Given the description of an element on the screen output the (x, y) to click on. 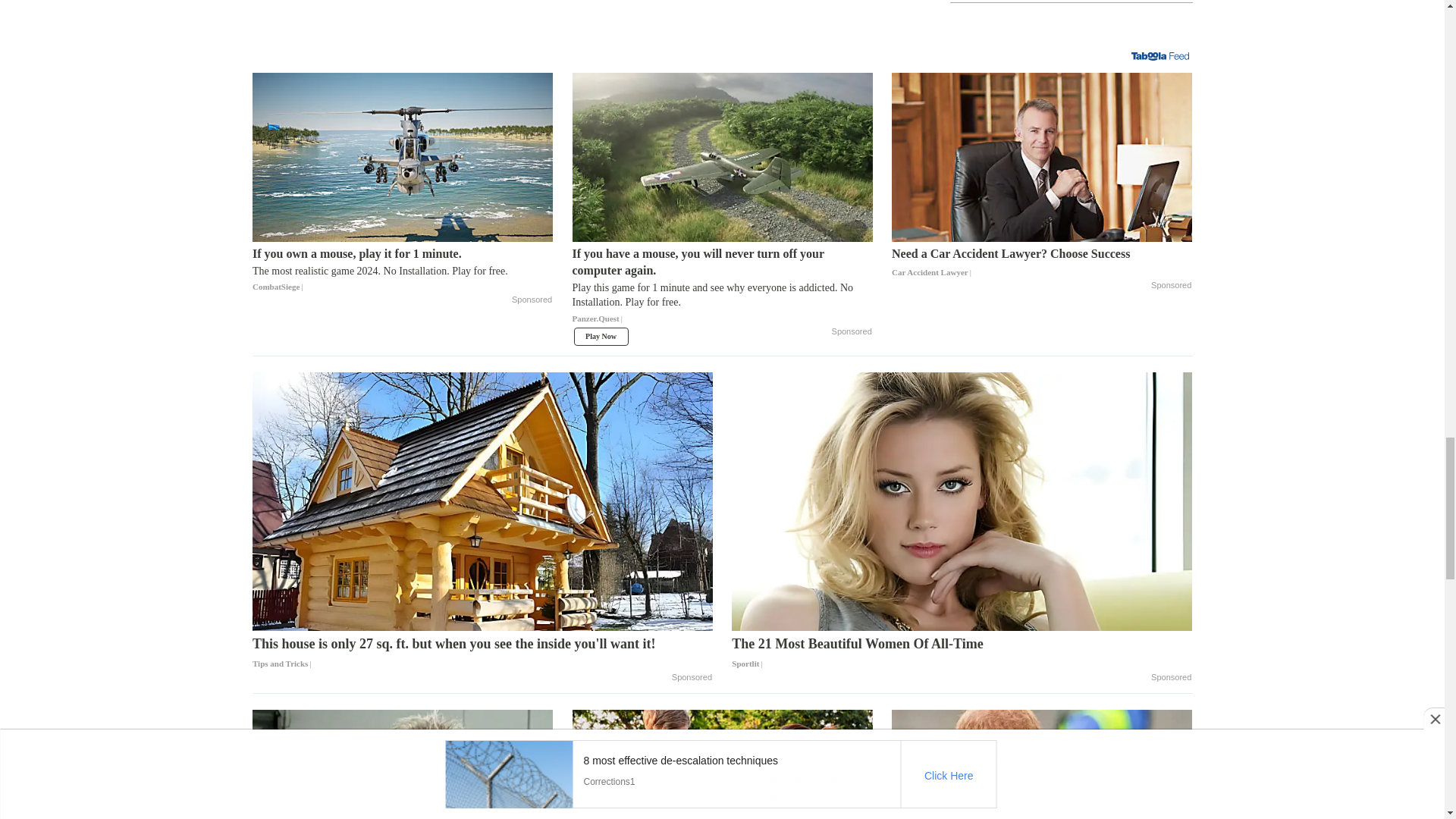
Need a Car Accident Lawyer? Choose Success (1041, 262)
If you own a mouse, play it for 1 minute. (402, 269)
If you own a mouse, play it for 1 minute. (402, 156)
Need a Car Accident Lawyer? Choose Success (1041, 156)
